Given the description of an element on the screen output the (x, y) to click on. 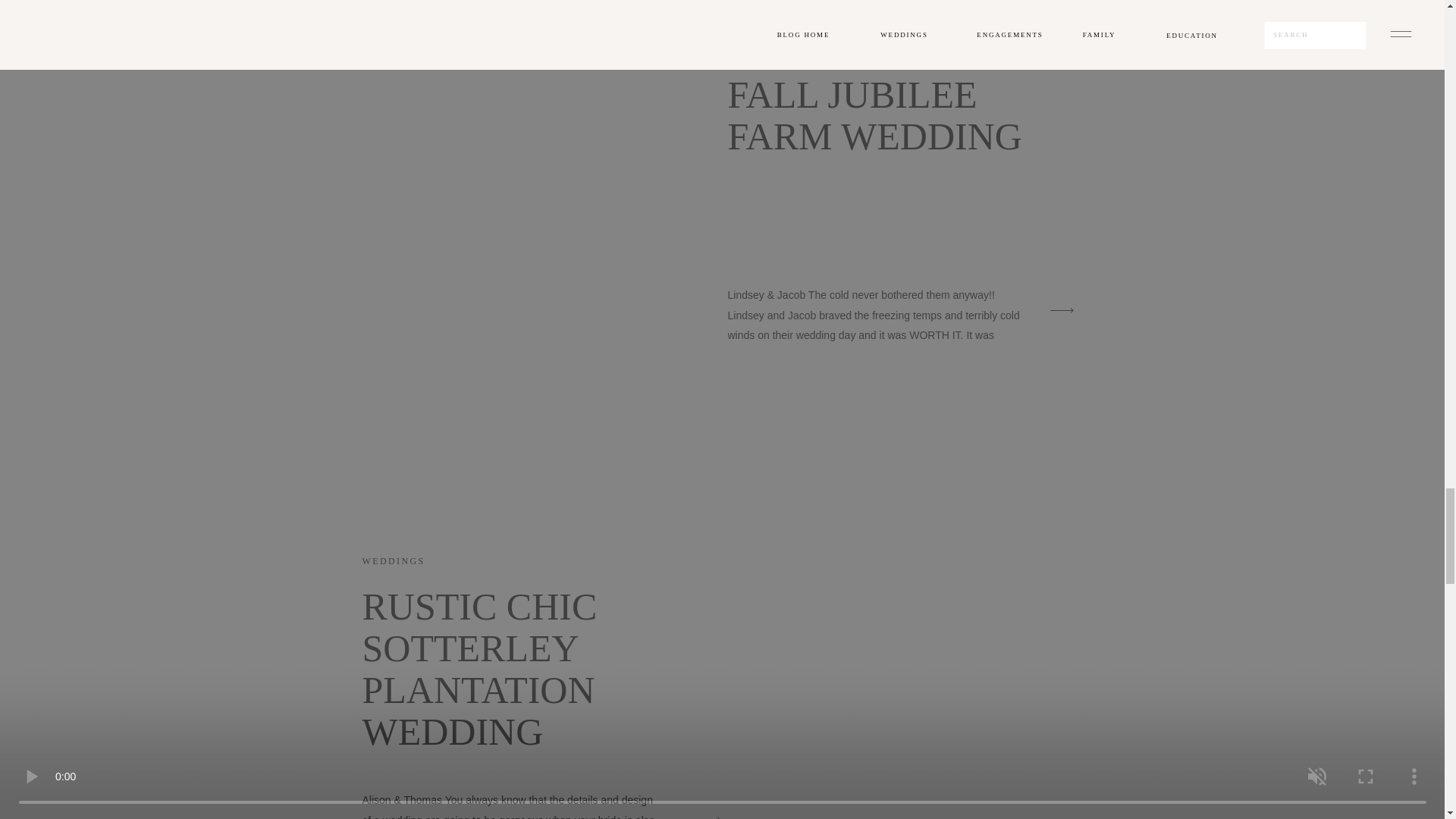
Rustic Chic Sotterley Plantation Wedding (708, 813)
arrow (1061, 310)
Fall Jubilee Farm Wedding (1061, 310)
ASSOCIATE LOVE (778, 51)
arrow (708, 813)
